Given the description of an element on the screen output the (x, y) to click on. 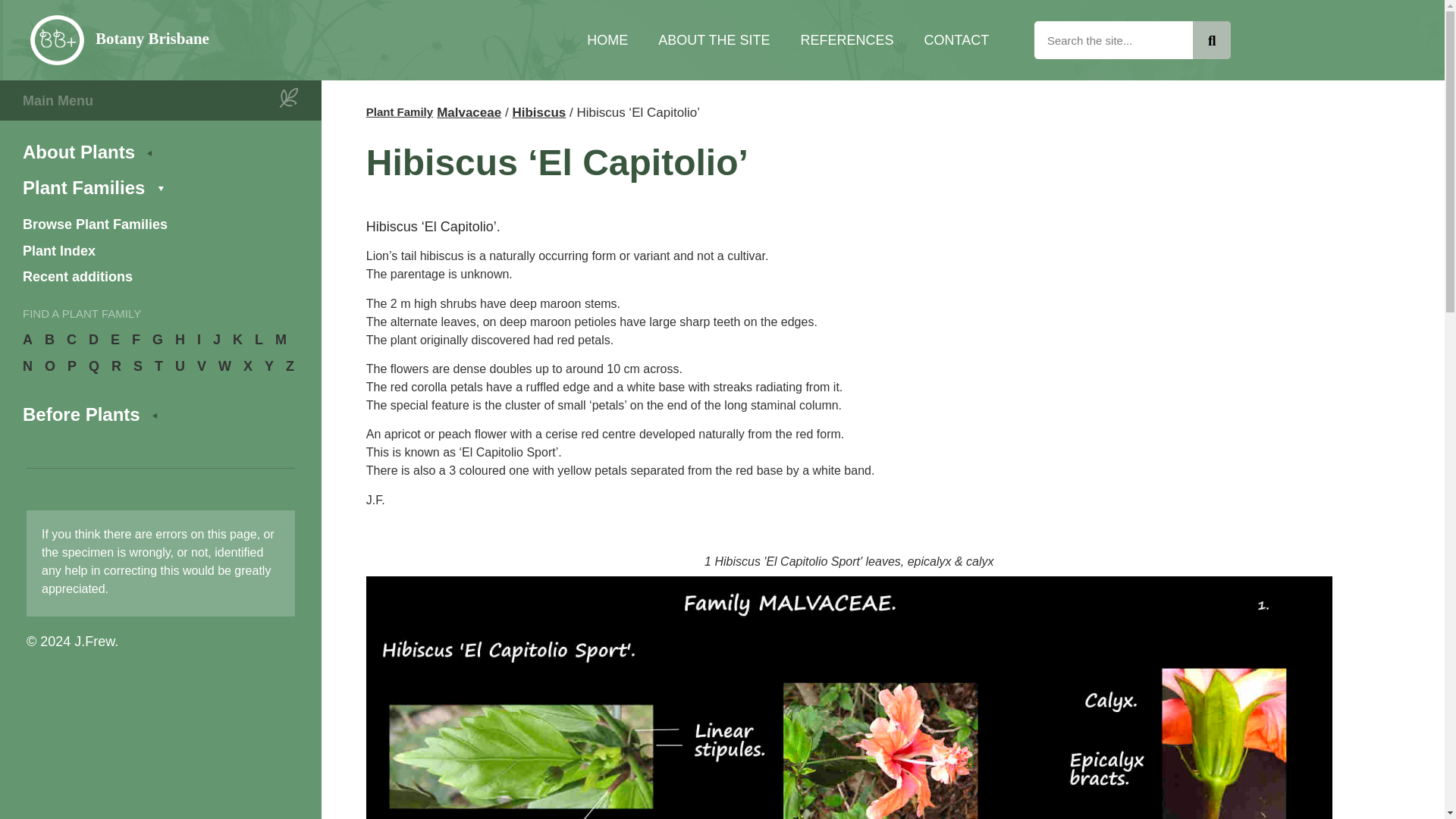
CONTACT (956, 39)
REFERENCES (847, 39)
ABOUT THE SITE (713, 39)
HOME (607, 39)
Recent additions (159, 276)
Browse Plant Families (159, 224)
Plant Index (159, 250)
